Given the description of an element on the screen output the (x, y) to click on. 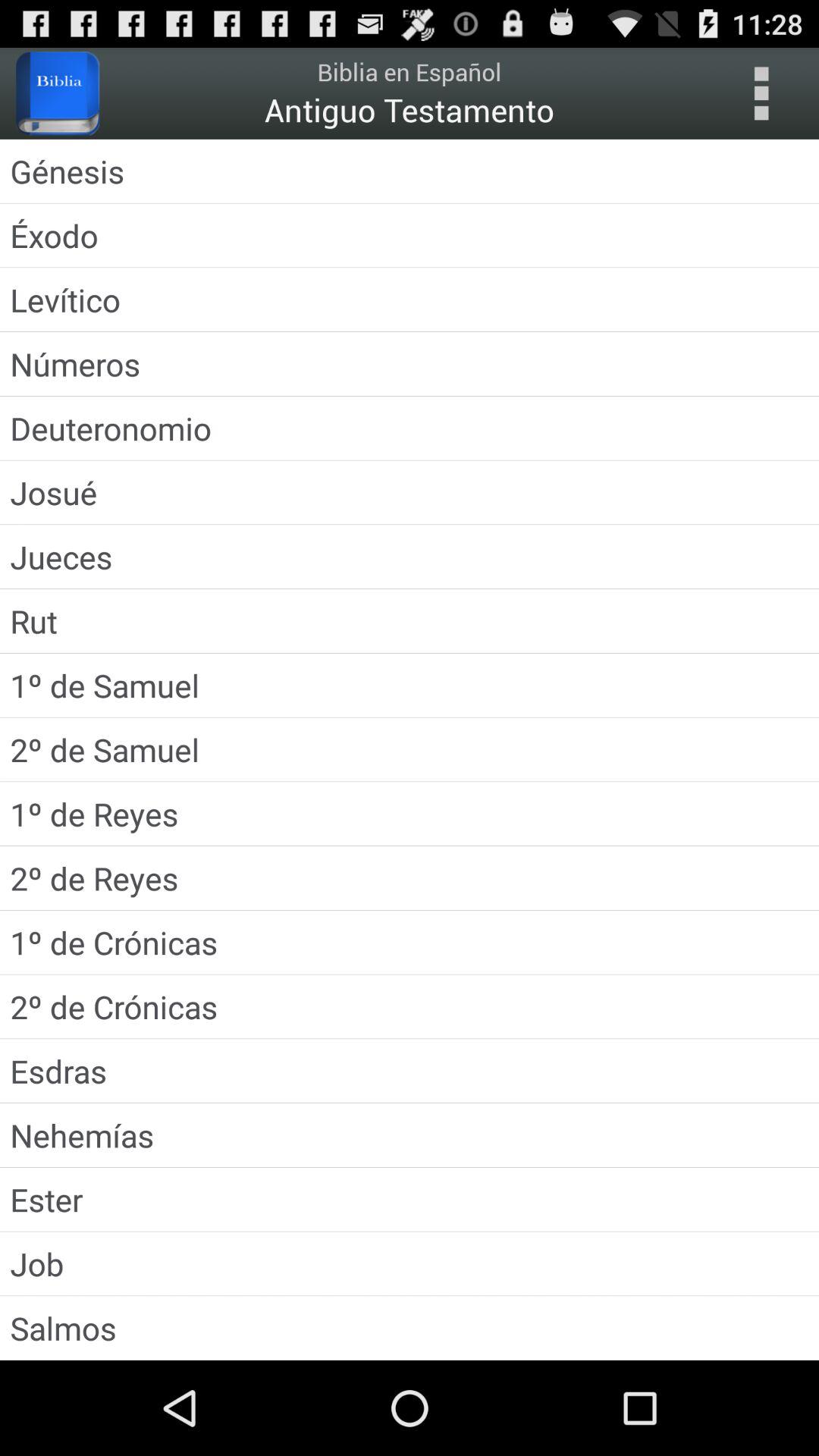
scroll to jueces item (409, 556)
